Given the description of an element on the screen output the (x, y) to click on. 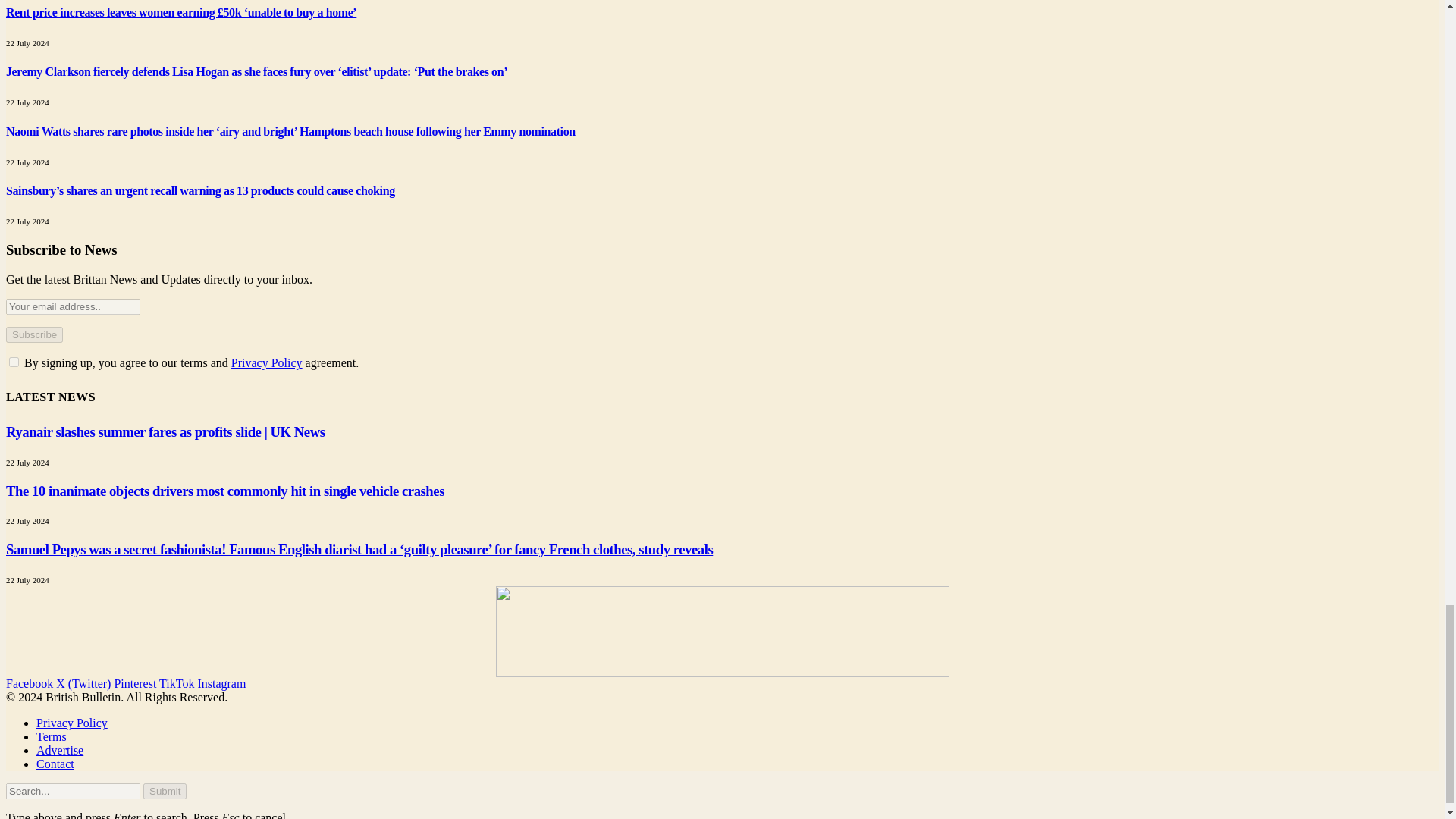
Subscribe (33, 334)
on (13, 361)
